Given the description of an element on the screen output the (x, y) to click on. 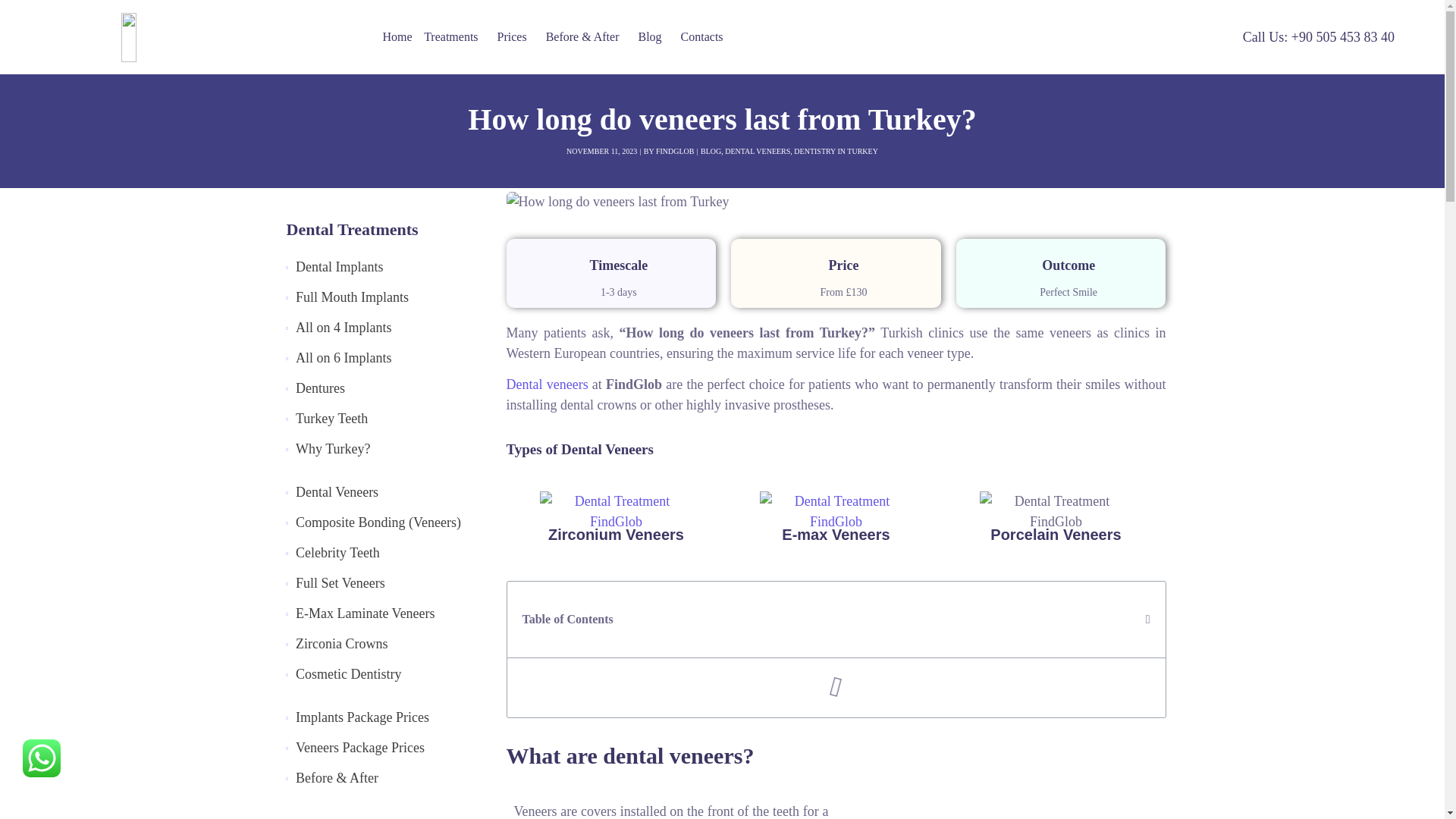
pixeldigital-01 (209, 36)
Treatments (453, 36)
Dental Treatment FindGlob (615, 511)
Dental Treatment FindGlob (835, 511)
Dental Treatment FindGlob (1055, 511)
